Given the description of an element on the screen output the (x, y) to click on. 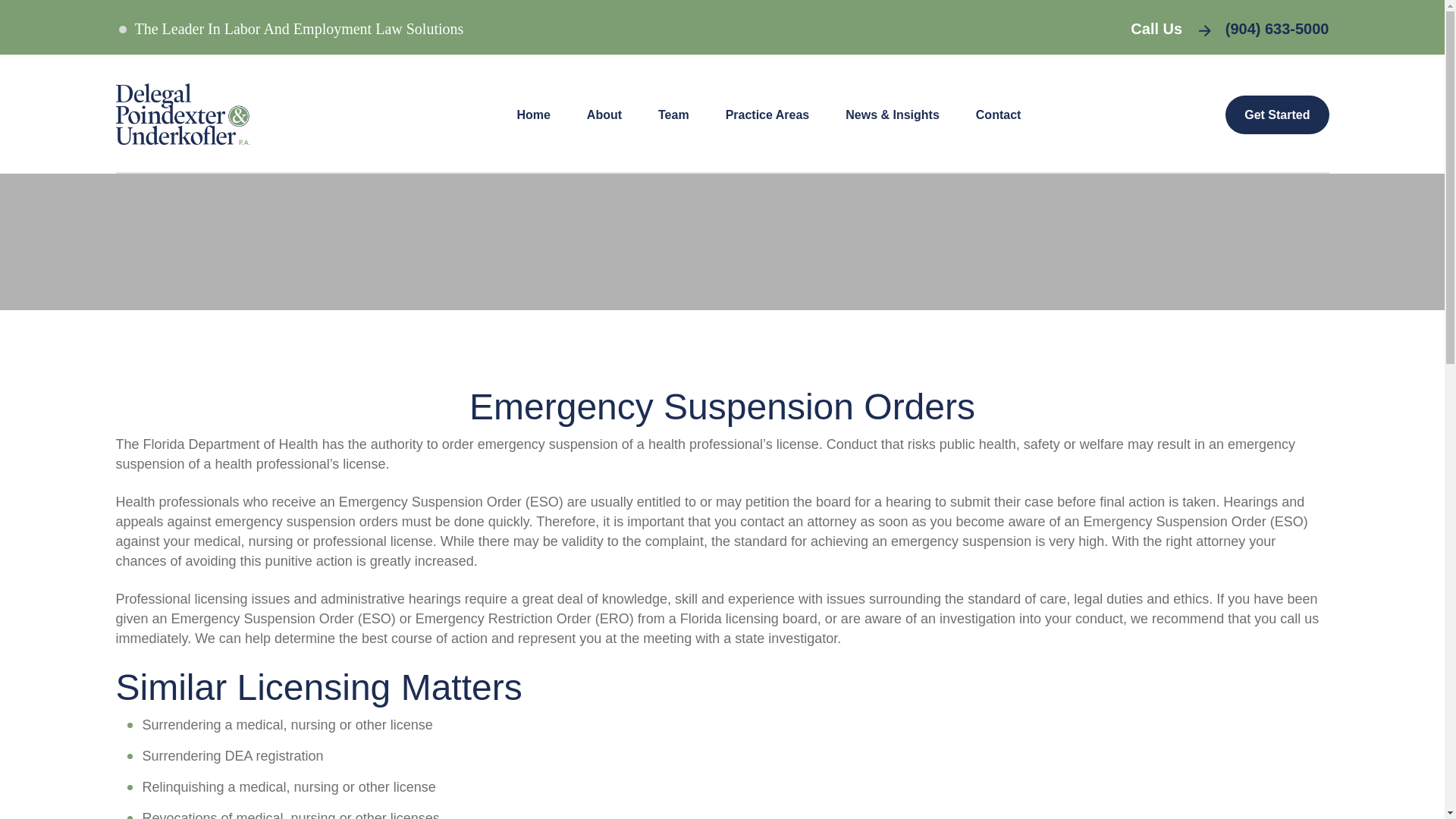
Get Started (1276, 114)
Contact (998, 115)
Practice Areas (767, 115)
Team (673, 115)
Home (533, 115)
About (603, 115)
